Given the description of an element on the screen output the (x, y) to click on. 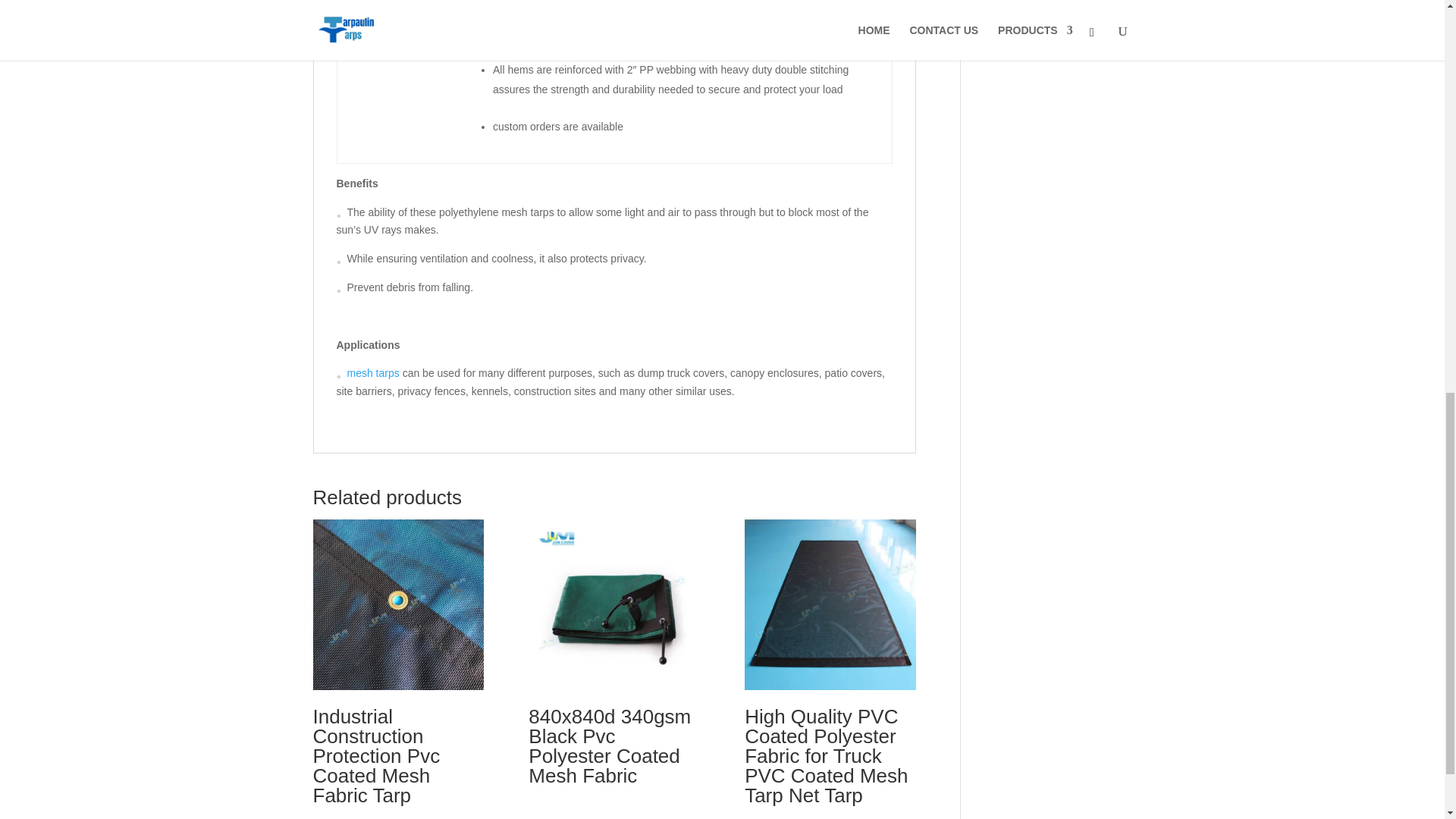
mesh tarps (372, 372)
mesh tarps (372, 372)
